Given the description of an element on the screen output the (x, y) to click on. 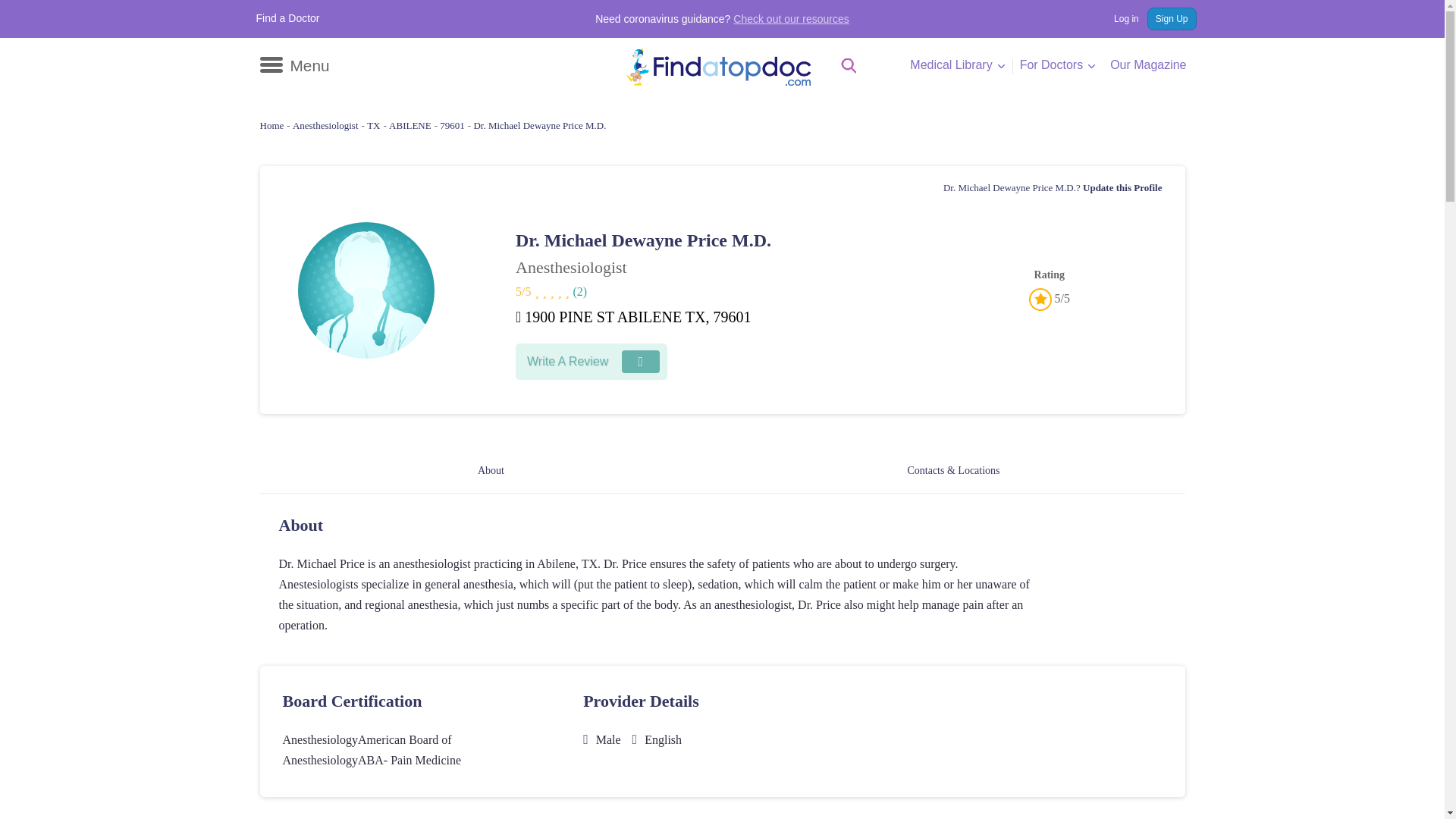
Check out our resources (790, 19)
Sign Up (1171, 18)
Log in (1118, 18)
Menu (294, 65)
Sign Up (1171, 18)
Find a Doctor (287, 17)
Log in (1118, 18)
